Given the description of an element on the screen output the (x, y) to click on. 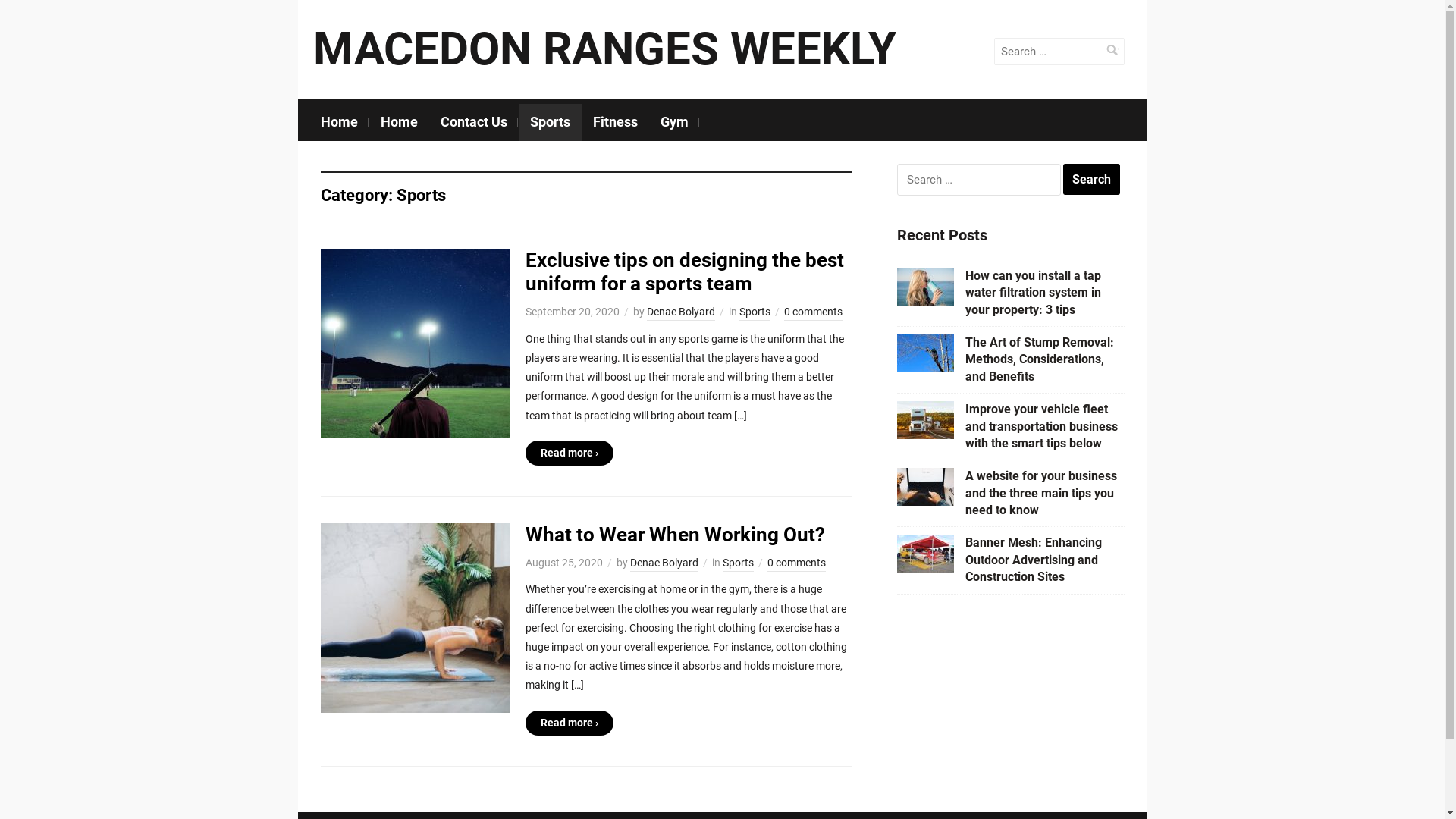
Search for: Element type: hover (1058, 51)
Sports Element type: text (737, 563)
Search for: Element type: hover (978, 179)
0 comments Element type: text (813, 312)
Home Element type: text (398, 122)
Denae Bolyard Element type: text (663, 563)
What to Wear When Working Out? Element type: text (674, 534)
Denae Bolyard Element type: text (680, 312)
Gym Element type: text (674, 122)
Fitness Element type: text (614, 122)
Search Element type: text (1111, 49)
MACEDON RANGES WEEKLY Element type: text (603, 48)
Sports Element type: text (753, 312)
Home Element type: text (339, 122)
0 comments Element type: text (796, 563)
What to Wear When Working Out? Element type: hover (414, 617)
Search Element type: text (1091, 179)
Sports Element type: text (549, 122)
Contact Us Element type: text (473, 122)
